Given the description of an element on the screen output the (x, y) to click on. 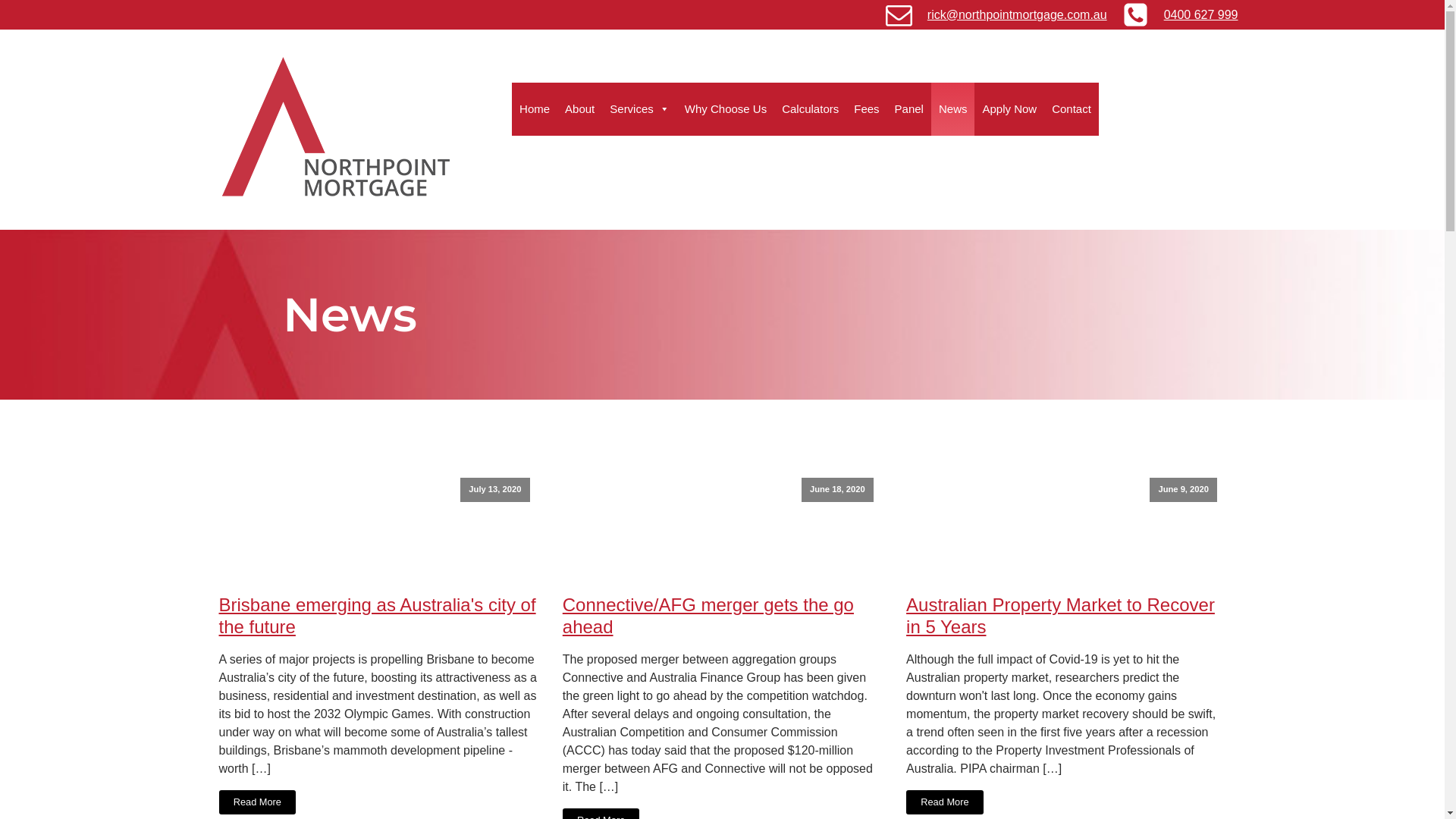
0400 627 999 Element type: text (1201, 15)
Why Choose Us Element type: text (725, 108)
Services Element type: text (639, 108)
Contact Element type: text (1071, 108)
July 13, 2020 Element type: text (377, 525)
Australian Property Market to Recover in 5 Years Element type: text (1065, 616)
Connective/AFG merger gets the go ahead Element type: text (721, 616)
Panel Element type: text (909, 108)
June 9, 2020 Element type: text (1065, 525)
Read More Element type: text (944, 802)
Read More Element type: text (256, 802)
rick@northpointmortgage.com.au Element type: text (1017, 15)
Home Element type: text (534, 108)
Calculators Element type: text (810, 108)
About Element type: text (579, 108)
Brisbane emerging as Australia's city of the future Element type: text (377, 616)
Apply Now Element type: text (1009, 108)
Fees Element type: text (866, 108)
News Element type: text (953, 108)
June 18, 2020 Element type: text (721, 525)
